Given the description of an element on the screen output the (x, y) to click on. 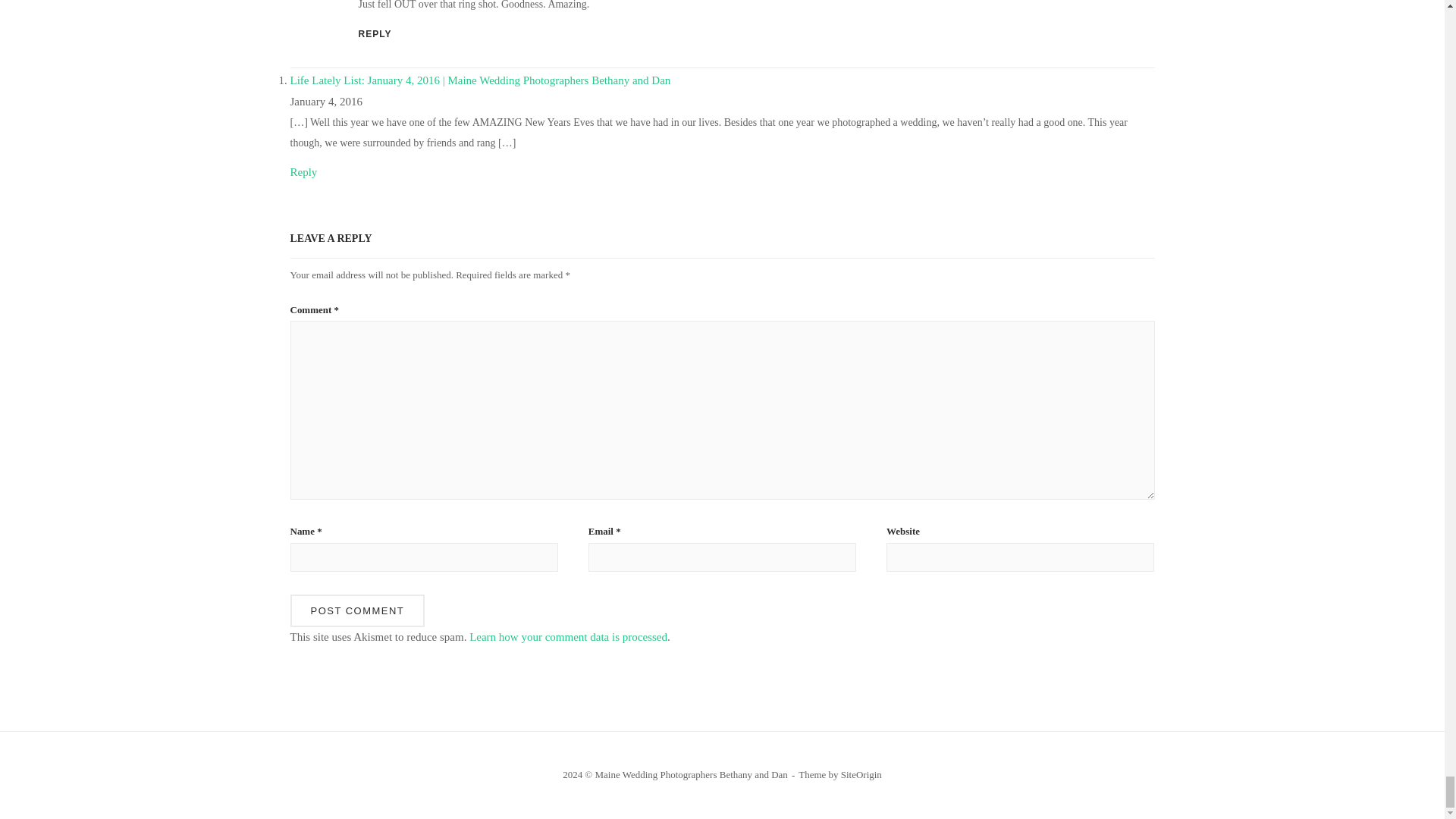
Post Comment (357, 610)
Reply (303, 172)
Learn how your comment data is processed (567, 636)
REPLY (374, 33)
Post Comment (357, 610)
SiteOrigin (861, 774)
